Given the description of an element on the screen output the (x, y) to click on. 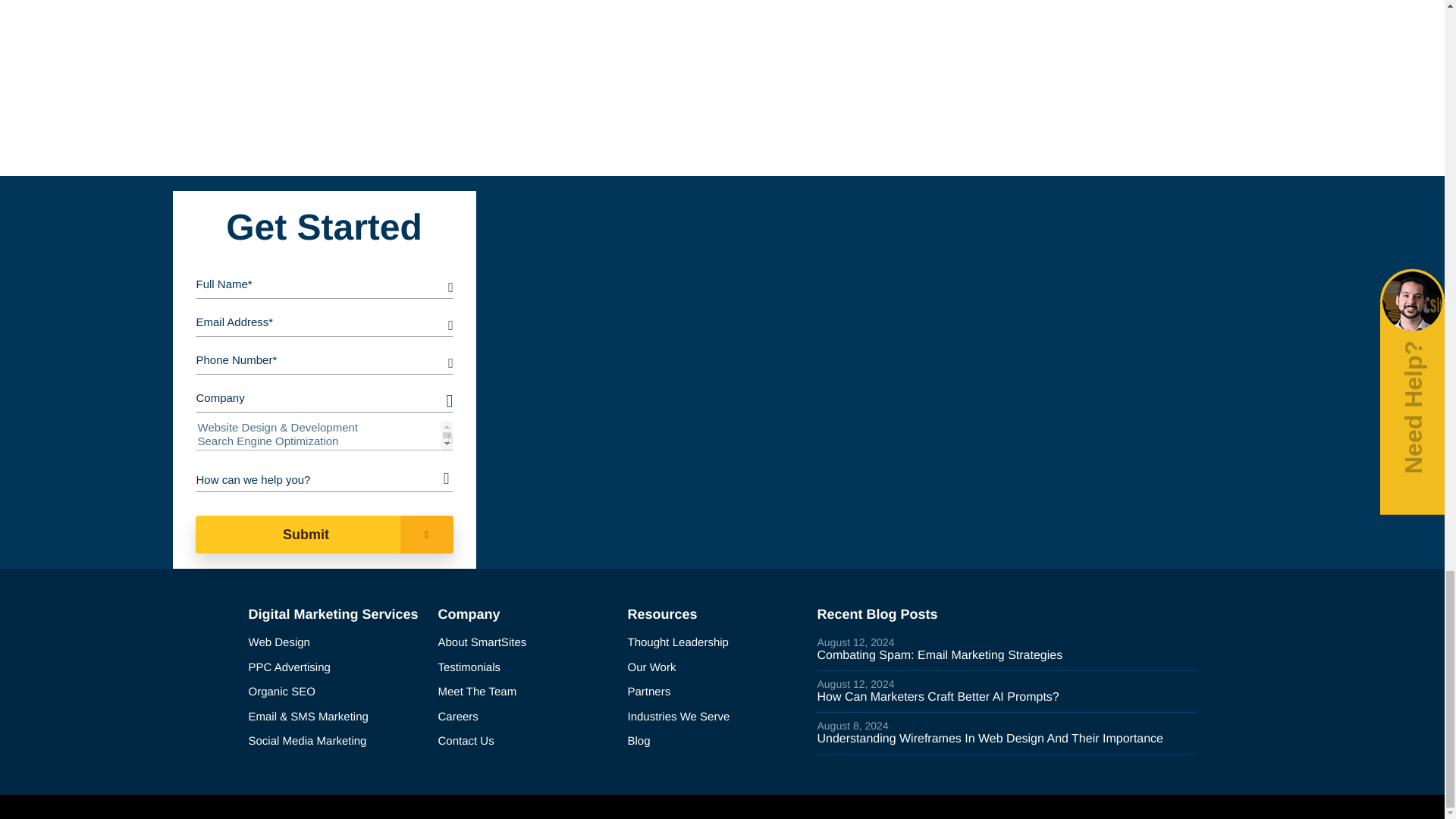
PPC Advertising (337, 668)
Submit (323, 534)
Web Design (337, 642)
Submit (323, 534)
